Given the description of an element on the screen output the (x, y) to click on. 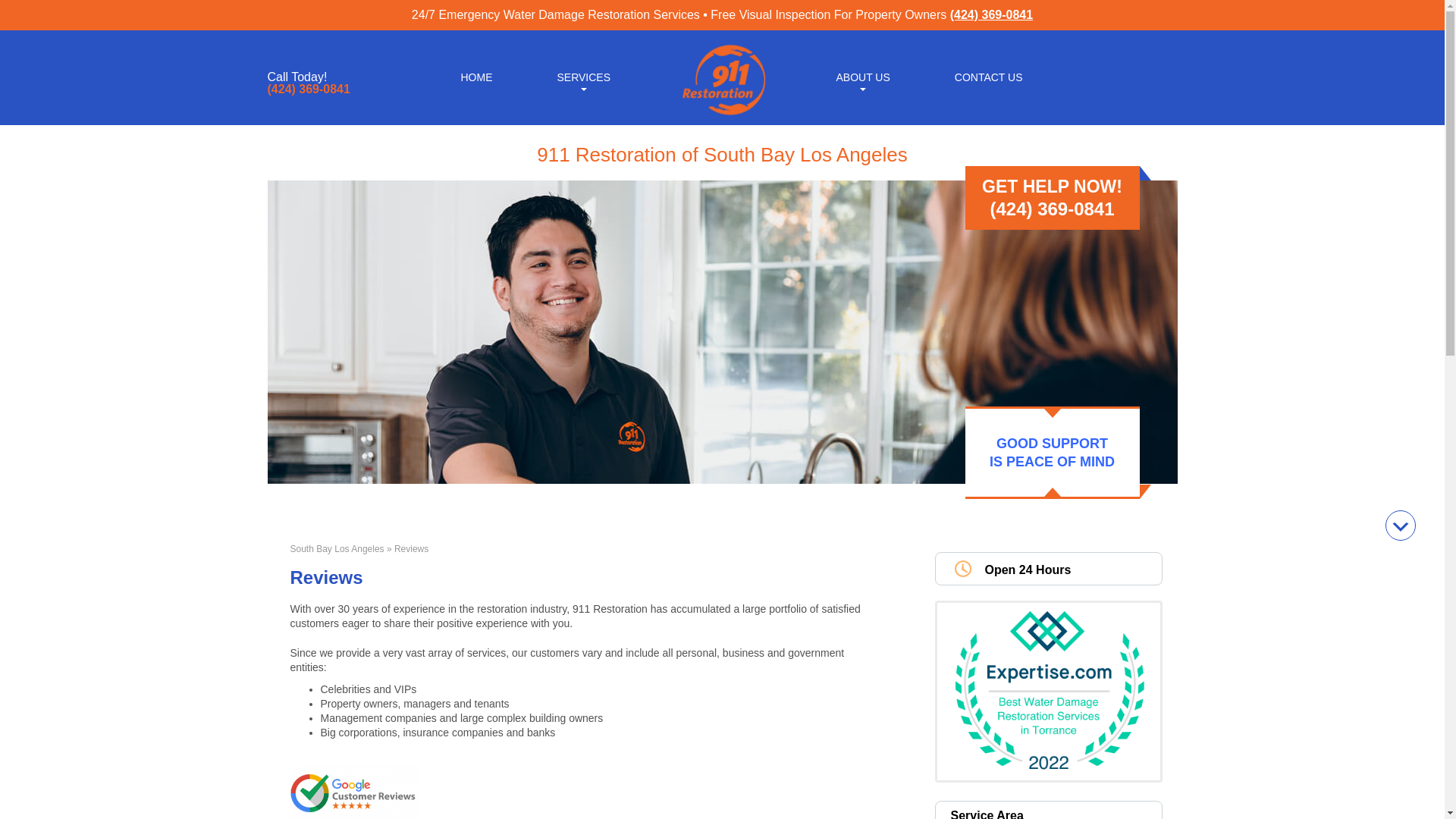
HOME (476, 76)
Scroll to Down (1400, 525)
ABOUT US (862, 76)
SERVICES (582, 76)
CONTACT US (988, 76)
911 Water Damage Restoration Logo (721, 115)
Go to South Bay Los Angeles. (336, 548)
